Given the description of an element on the screen output the (x, y) to click on. 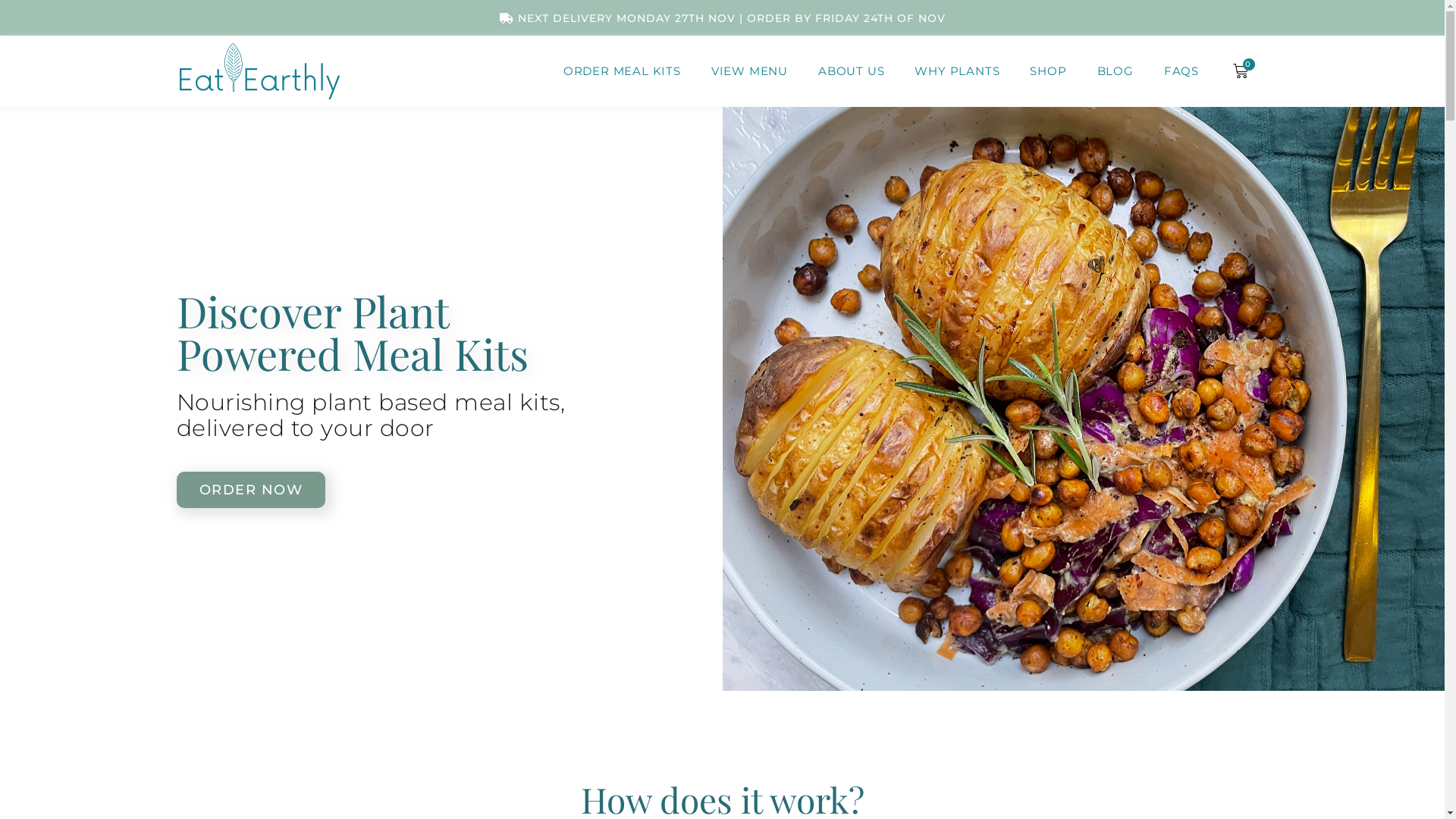
ORDER MEAL KITS Element type: text (622, 70)
BLOG Element type: text (1115, 70)
NEXT DELIVERY MONDAY 27TH NOV | ORDER BY FRIDAY 24TH OF NOV Element type: text (721, 17)
0 Element type: text (1241, 70)
SHOP Element type: text (1047, 70)
VIEW MENU Element type: text (749, 70)
WHY PLANTS Element type: text (956, 70)
FAQS Element type: text (1181, 70)
ABOUT US Element type: text (851, 70)
ORDER NOW Element type: text (250, 489)
